Given the description of an element on the screen output the (x, y) to click on. 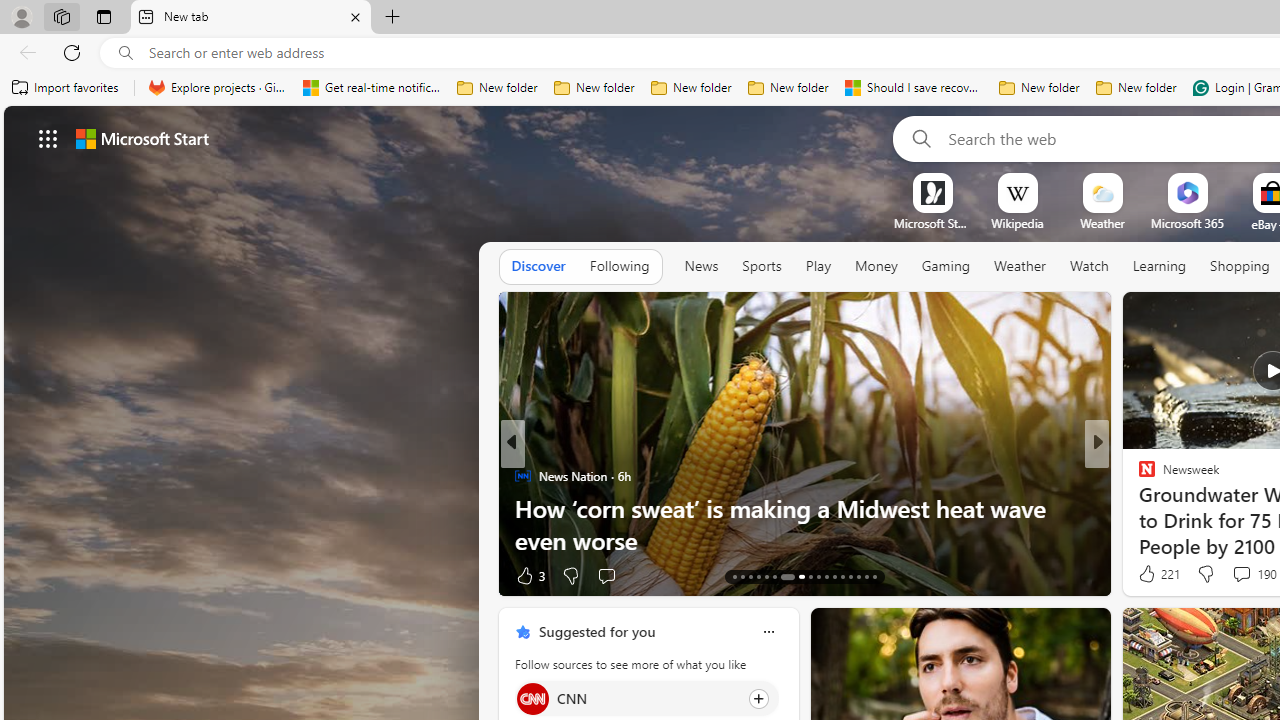
Following (619, 265)
Back (24, 52)
78 Like (1149, 574)
View comments 66 Comment (11, 575)
Shopping (1240, 265)
218 Like (1151, 574)
Discover (538, 265)
View comments 125 Comment (1247, 574)
AutomationID: tab-27 (857, 576)
Sports (761, 265)
Close tab (354, 16)
Flannels or FlipFlops (1138, 475)
AutomationID: tab-16 (757, 576)
